Given the description of an element on the screen output the (x, y) to click on. 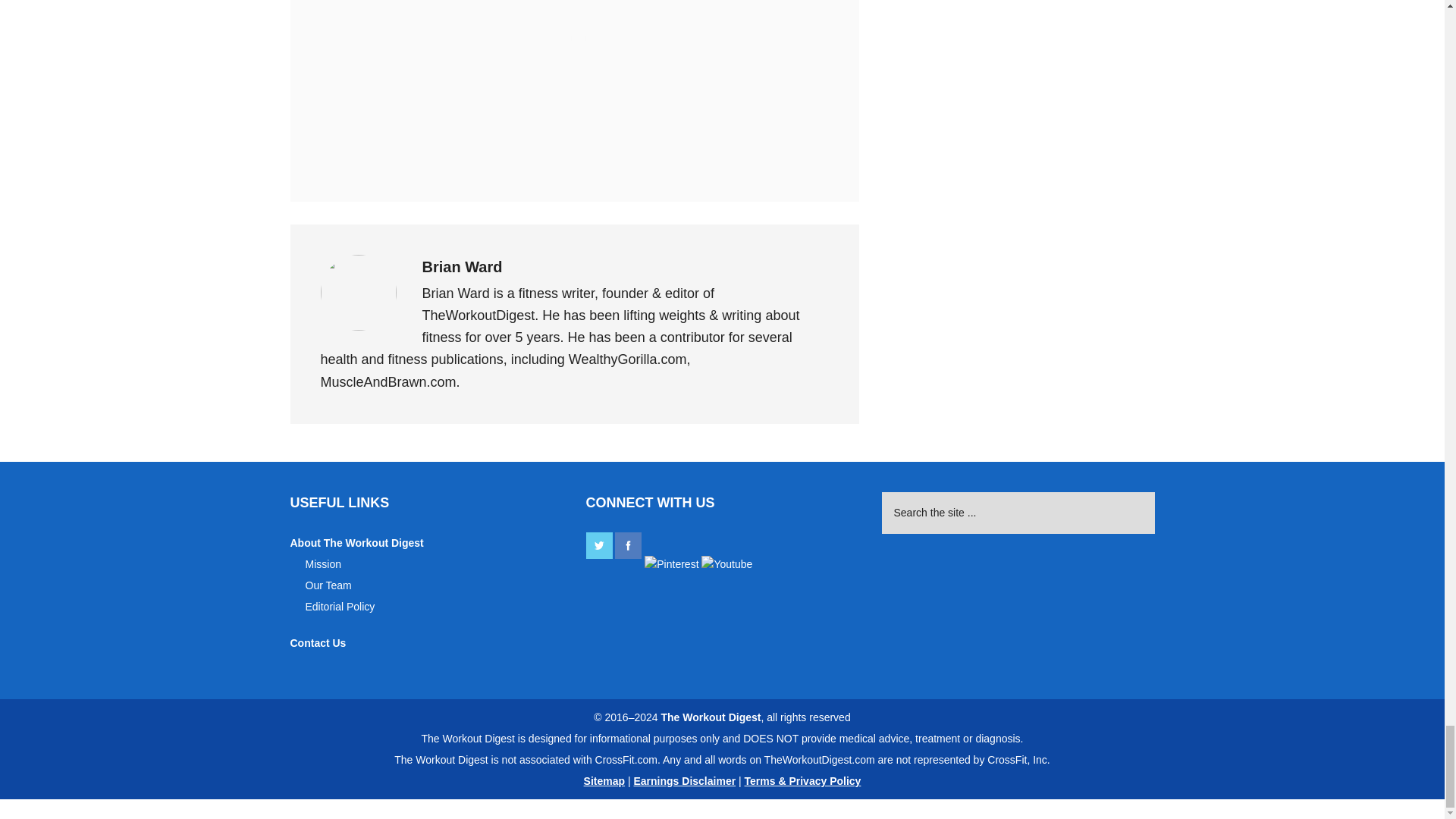
Pinterest (671, 564)
Youtube (726, 564)
Facebook (628, 545)
Twitter (598, 545)
